Given the description of an element on the screen output the (x, y) to click on. 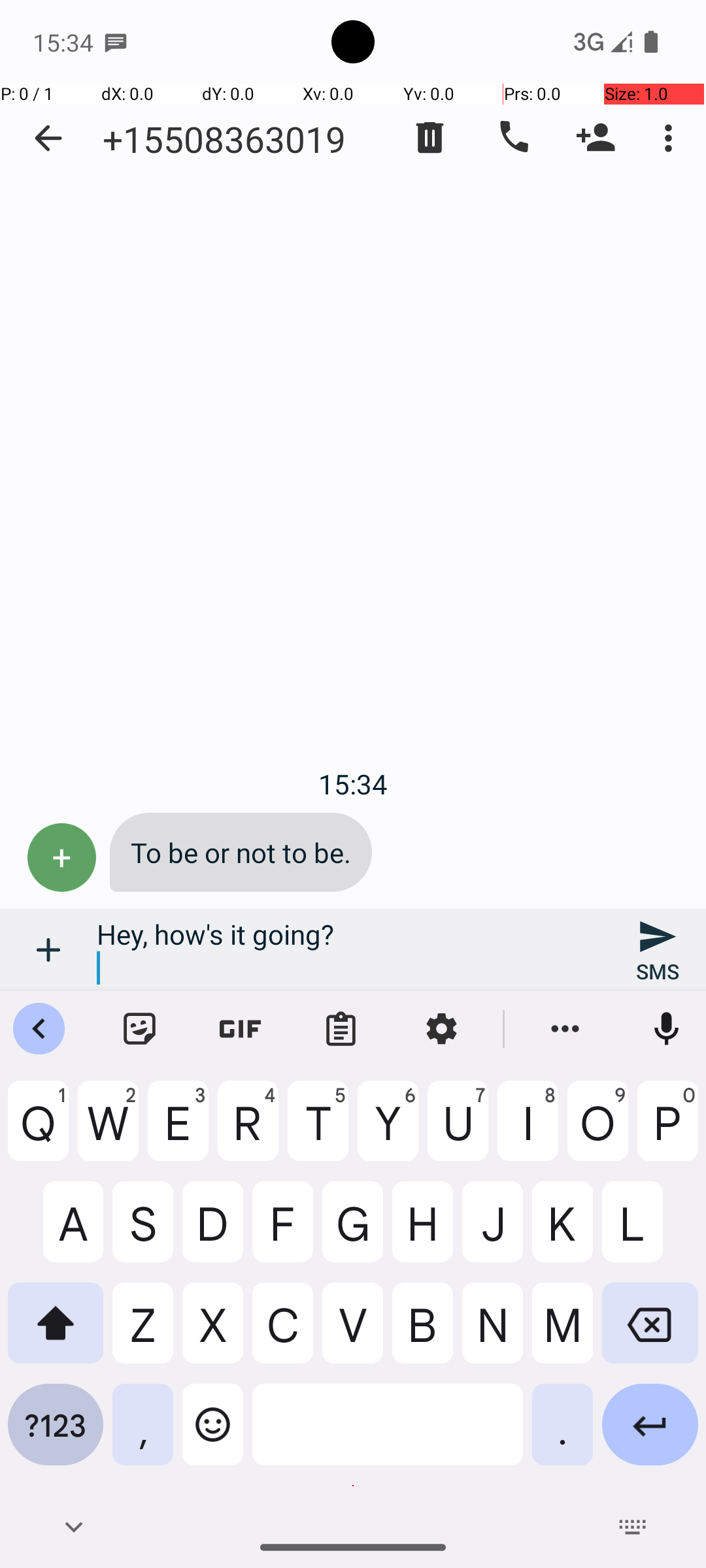
+15508363019 Element type: android.widget.TextView (223, 138)
Hey, how's it going?
 Element type: android.widget.EditText (352, 949)
To be or not to be. Element type: android.widget.TextView (240, 851)
